Given the description of an element on the screen output the (x, y) to click on. 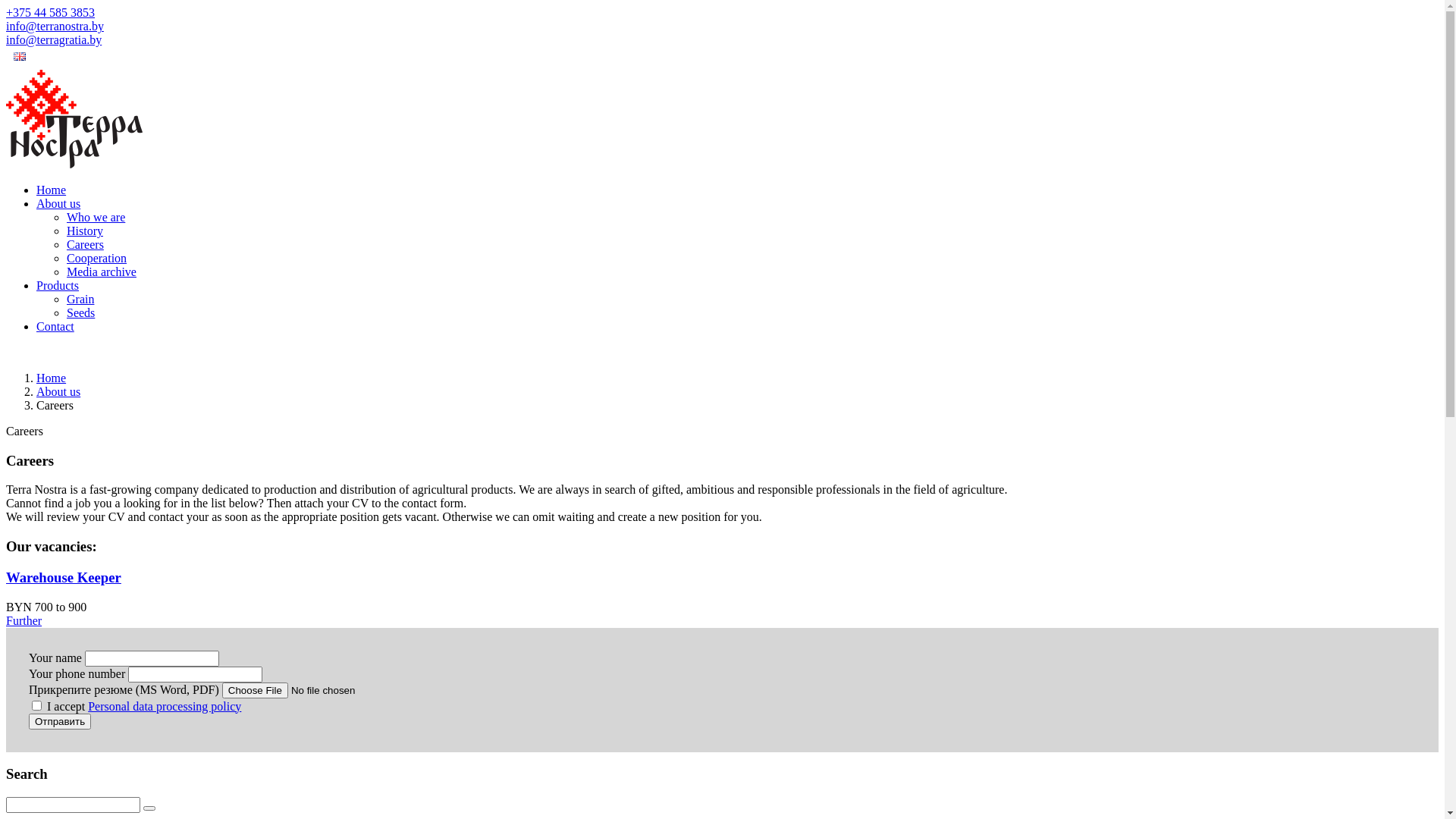
Contact Element type: text (55, 326)
+375 44 585 3853 Element type: text (50, 12)
About us Element type: text (58, 391)
Products Element type: text (57, 285)
Seeds Element type: text (80, 312)
Personal data processing policy Element type: text (164, 705)
info@terragratia.by Element type: text (53, 39)
Cooperation Element type: text (96, 257)
Home Element type: text (50, 189)
History Element type: text (84, 230)
info@terranostra.by Element type: text (54, 25)
Careers Element type: text (84, 244)
English Element type: hover (722, 58)
About us Element type: text (58, 203)
Grain Element type: text (80, 298)
Further Element type: text (23, 620)
Home Element type: text (50, 377)
Warehouse Keeper Element type: text (722, 577)
Media archive Element type: text (101, 271)
Who we are Element type: text (95, 216)
